Given the description of an element on the screen output the (x, y) to click on. 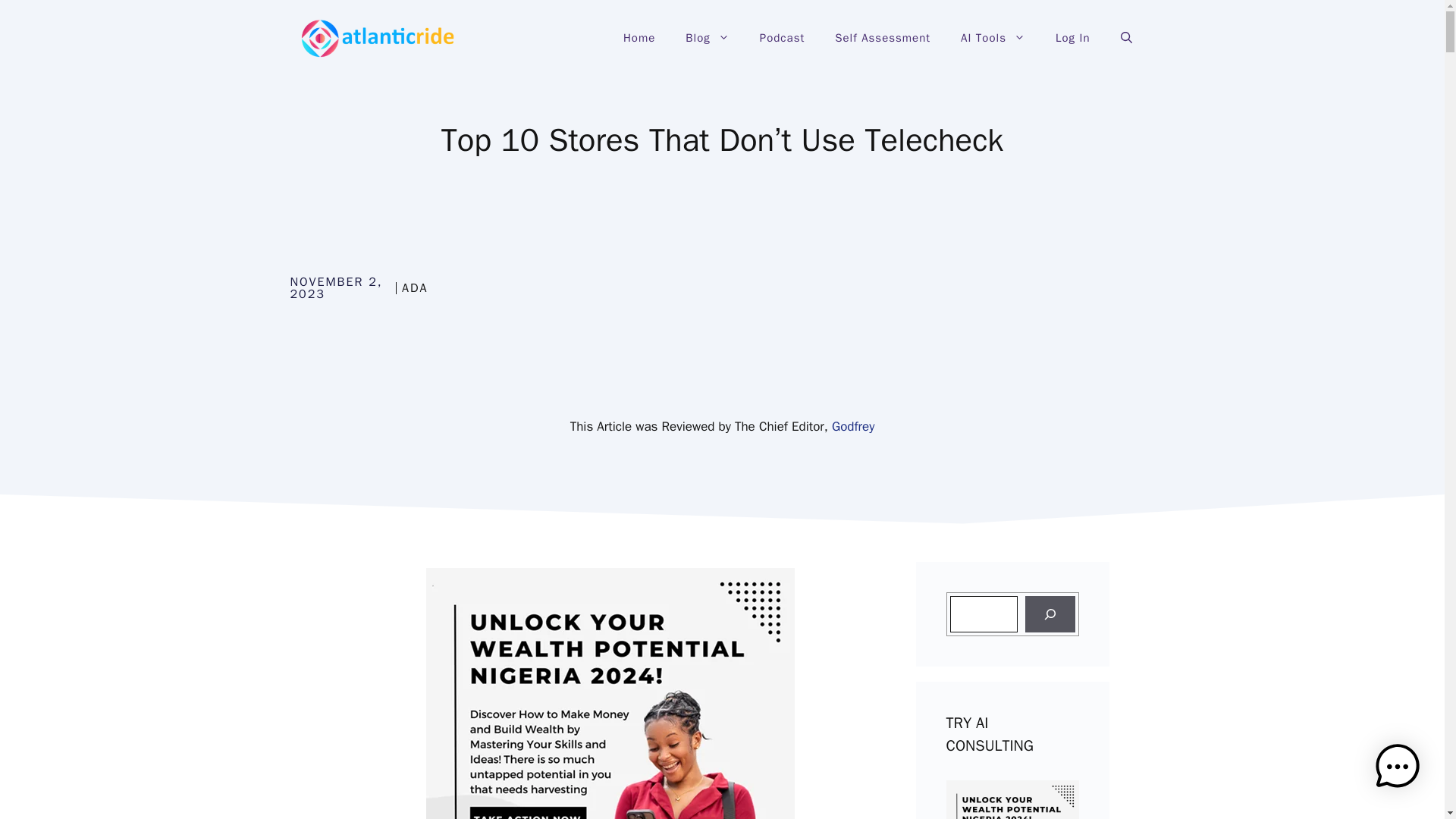
Podcast (781, 37)
Blog (706, 37)
Self Assessment (881, 37)
AI Tools (992, 37)
Home (638, 37)
Godfrey (853, 426)
ADA (414, 287)
Log In (1073, 37)
